Given the description of an element on the screen output the (x, y) to click on. 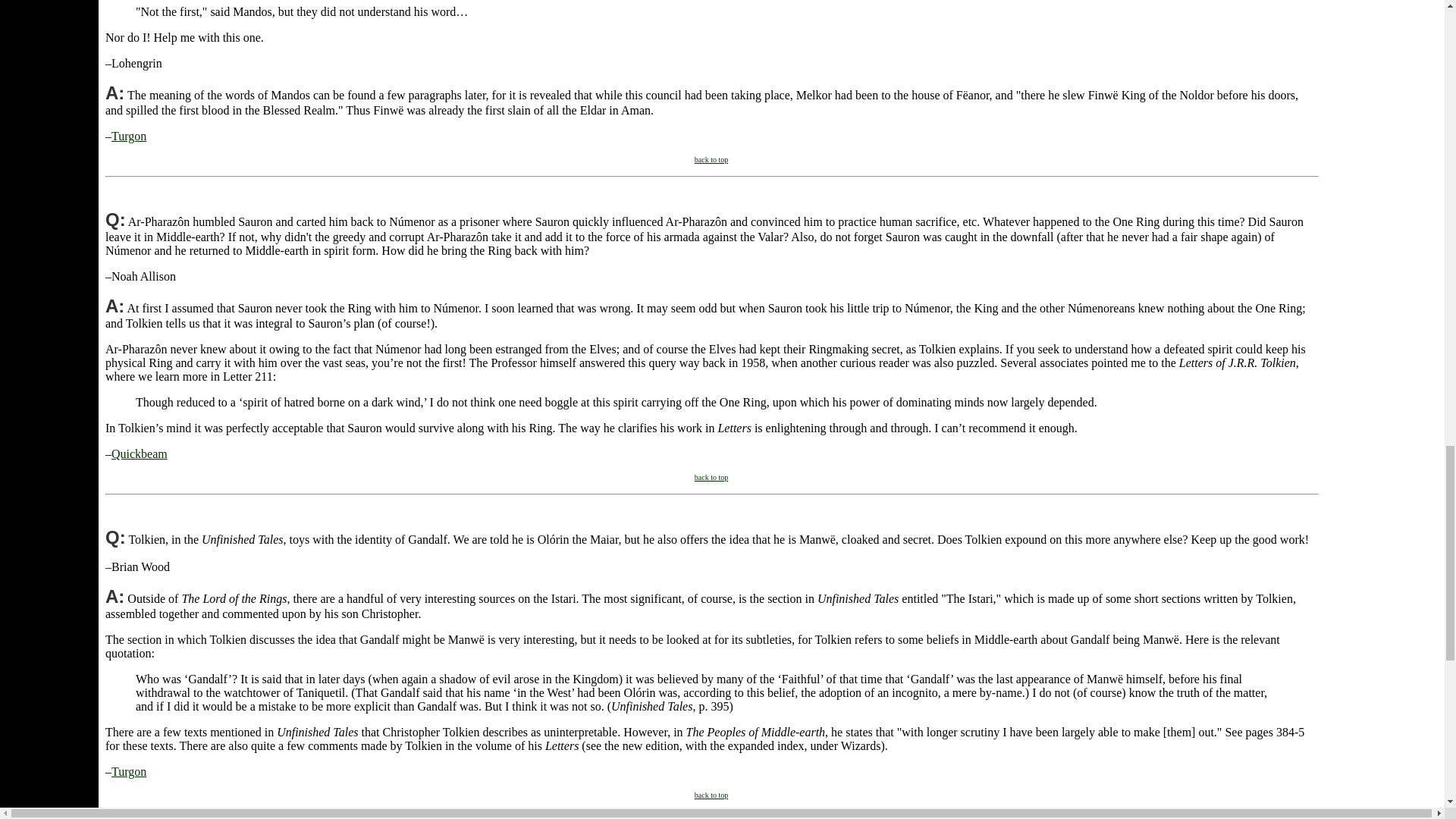
back to top (711, 477)
Quickbeam (139, 453)
back to top (711, 795)
Turgon (129, 135)
Turgon (129, 771)
back to top (711, 159)
